Given the description of an element on the screen output the (x, y) to click on. 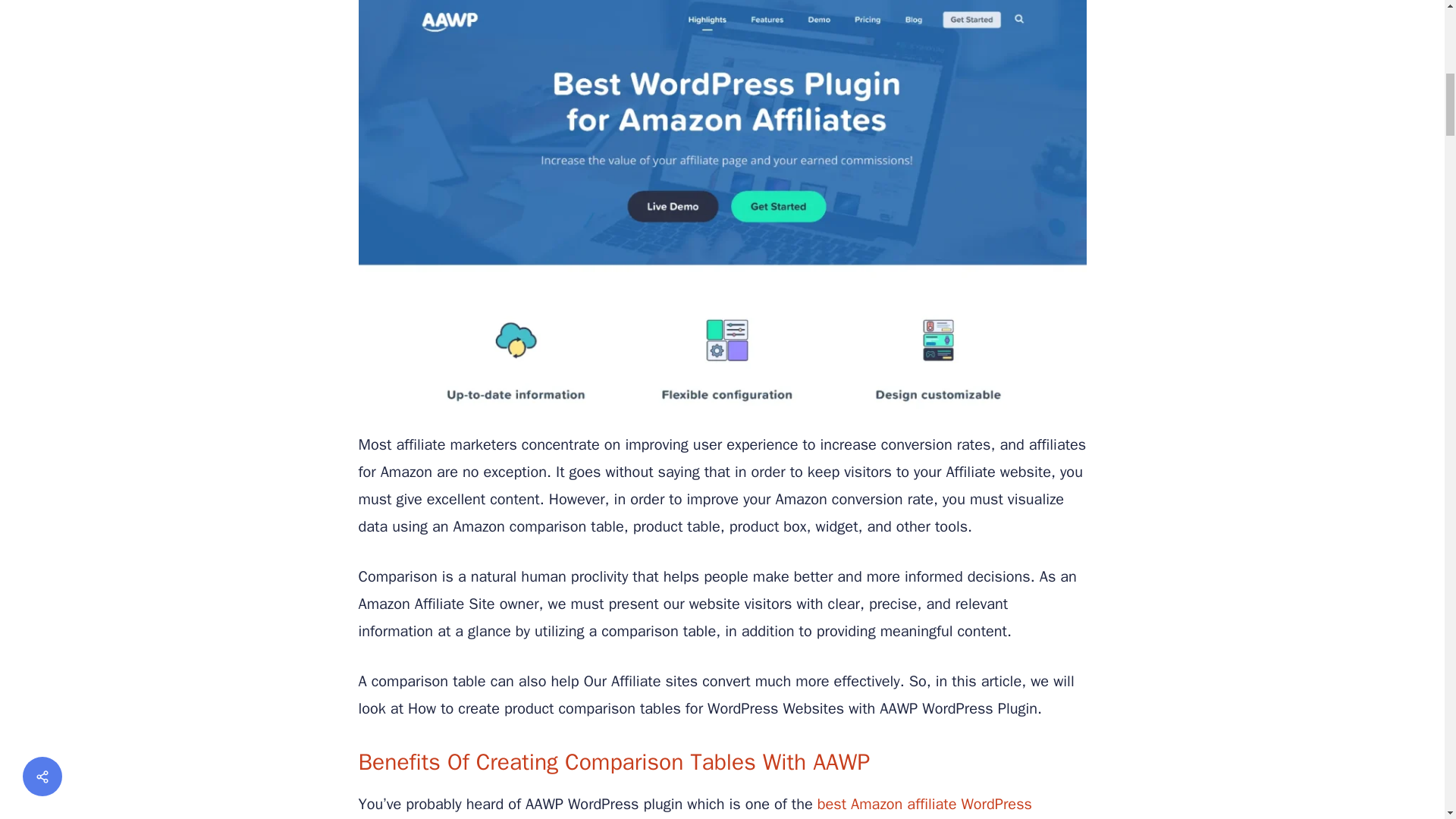
Best Amazon Affiliate WordPress Plugins (694, 806)
